Given the description of an element on the screen output the (x, y) to click on. 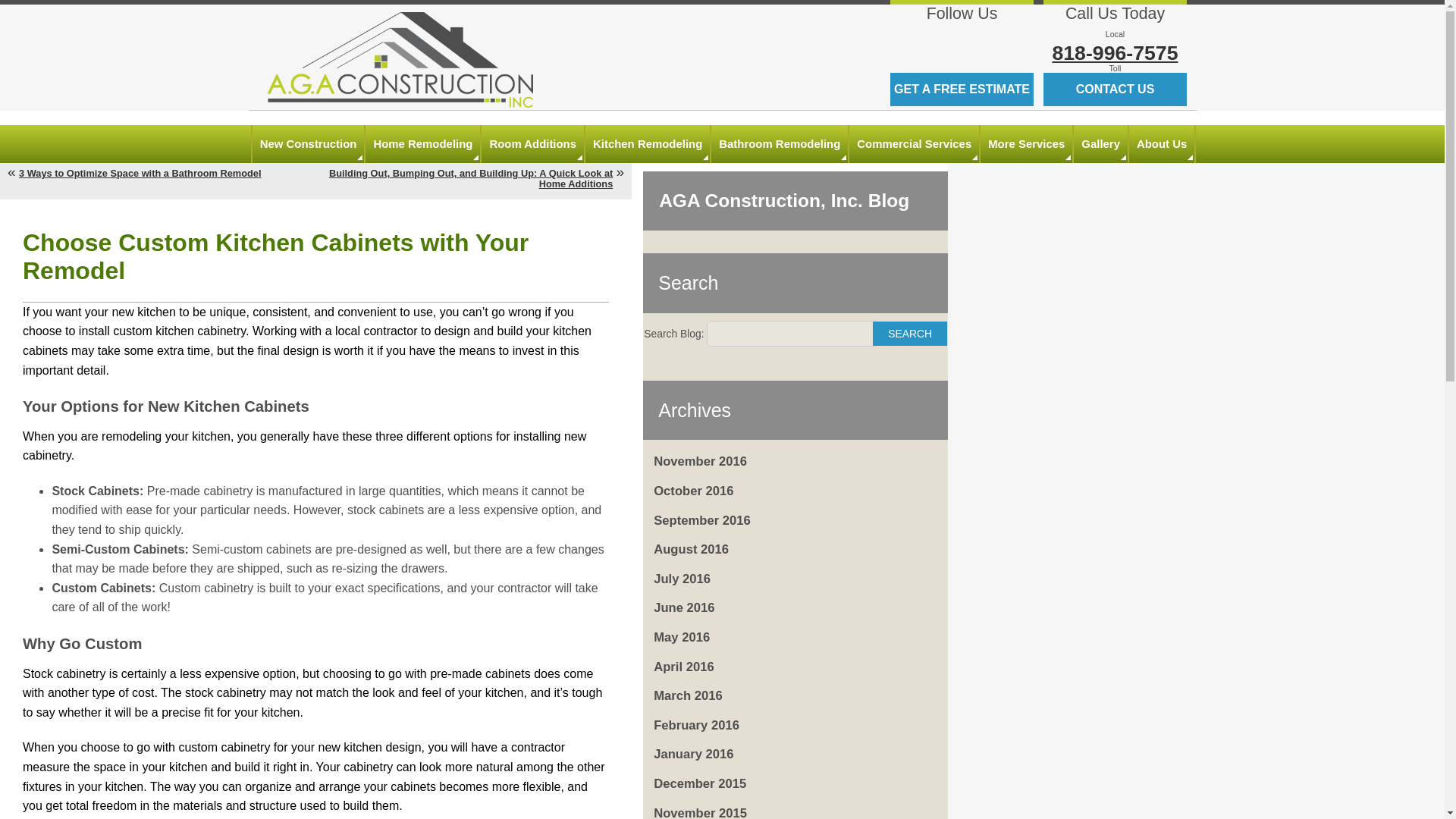
Pinterest (1003, 39)
AGA Construction, Inc. on Pinterest (1003, 39)
CONTACT US (1114, 89)
Kitchen Remodeling (647, 143)
818-996-7575 (1114, 52)
Yelp (975, 39)
GET A FREE ESTIMATE (961, 89)
Home Remodeling (422, 143)
AGA Construction, Inc. on Yelp (975, 39)
New Construction (308, 143)
